Given the description of an element on the screen output the (x, y) to click on. 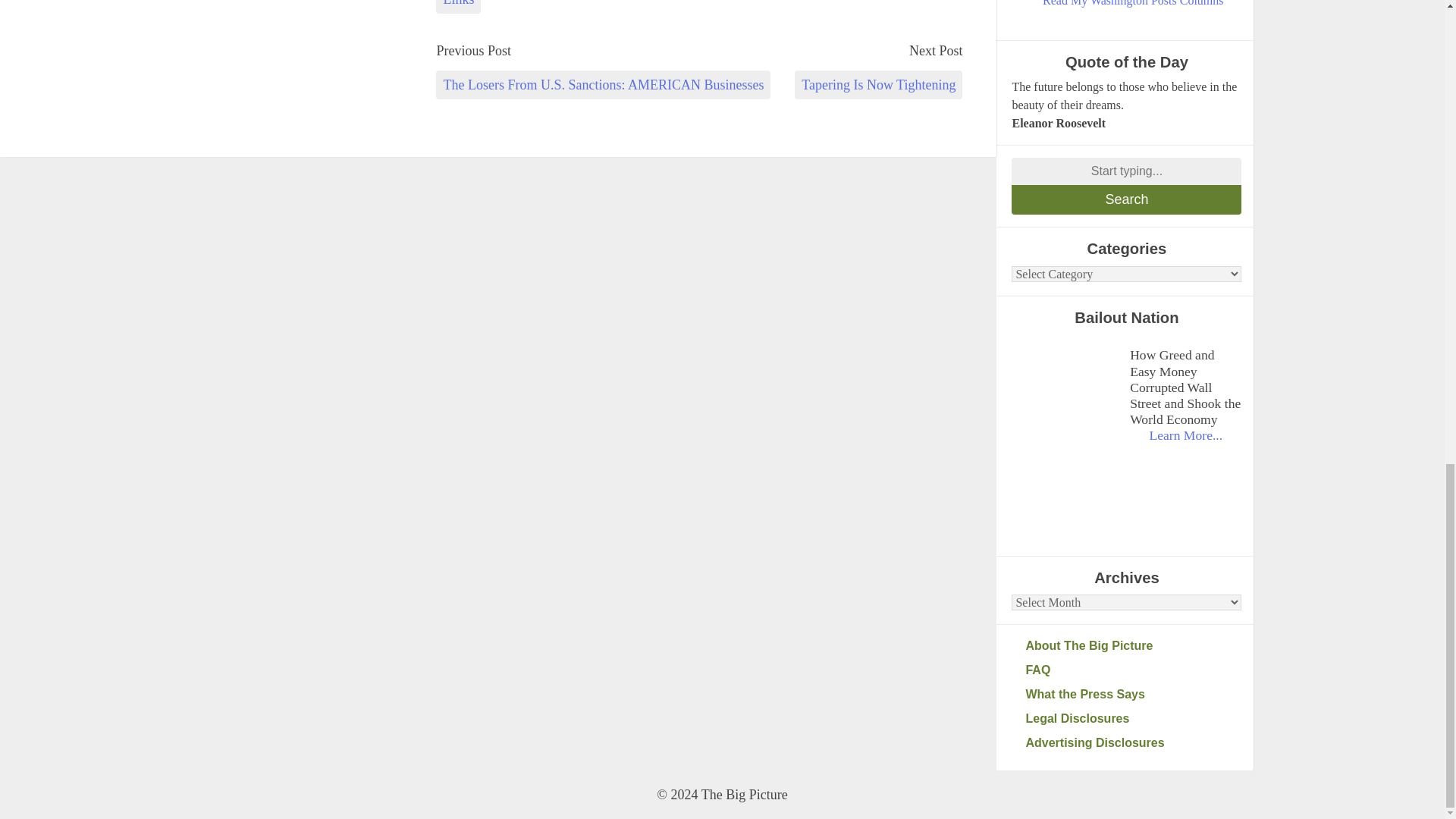
Advertising Disclosures (1133, 742)
Tapering Is Now Tightening (878, 84)
Learn More... (1185, 435)
Links (457, 6)
Search (1126, 199)
FAQ (1133, 669)
Legal Disclosures (1133, 719)
About The Big Picture (1133, 646)
Bailout Nation (1066, 389)
Search (1126, 199)
The Losers From U.S. Sanctions: AMERICAN Businesses (602, 84)
What the Press Says (1133, 694)
Search (1126, 199)
Read My Washington Posts Columns (1132, 4)
